Given the description of an element on the screen output the (x, y) to click on. 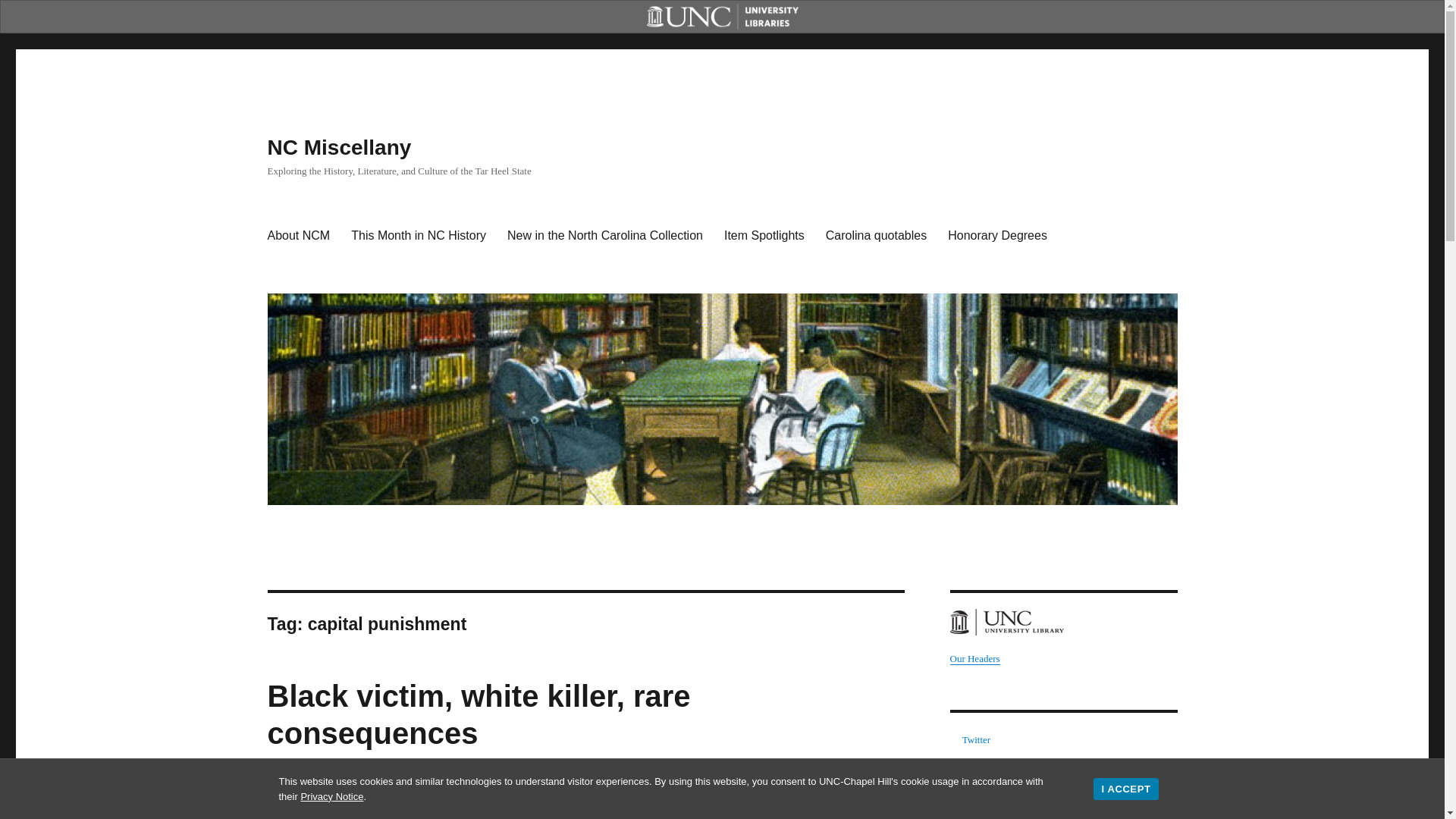
Carolina quotables (876, 234)
NC Miscellany (338, 146)
Privacy Notice (330, 795)
Honorary Degrees (997, 234)
Twitter (976, 739)
About NCM (298, 234)
Our Headers (973, 658)
I ACCEPT (1125, 789)
Item Spotlights (764, 234)
Black victim, white killer, rare consequences (478, 714)
